Given the description of an element on the screen output the (x, y) to click on. 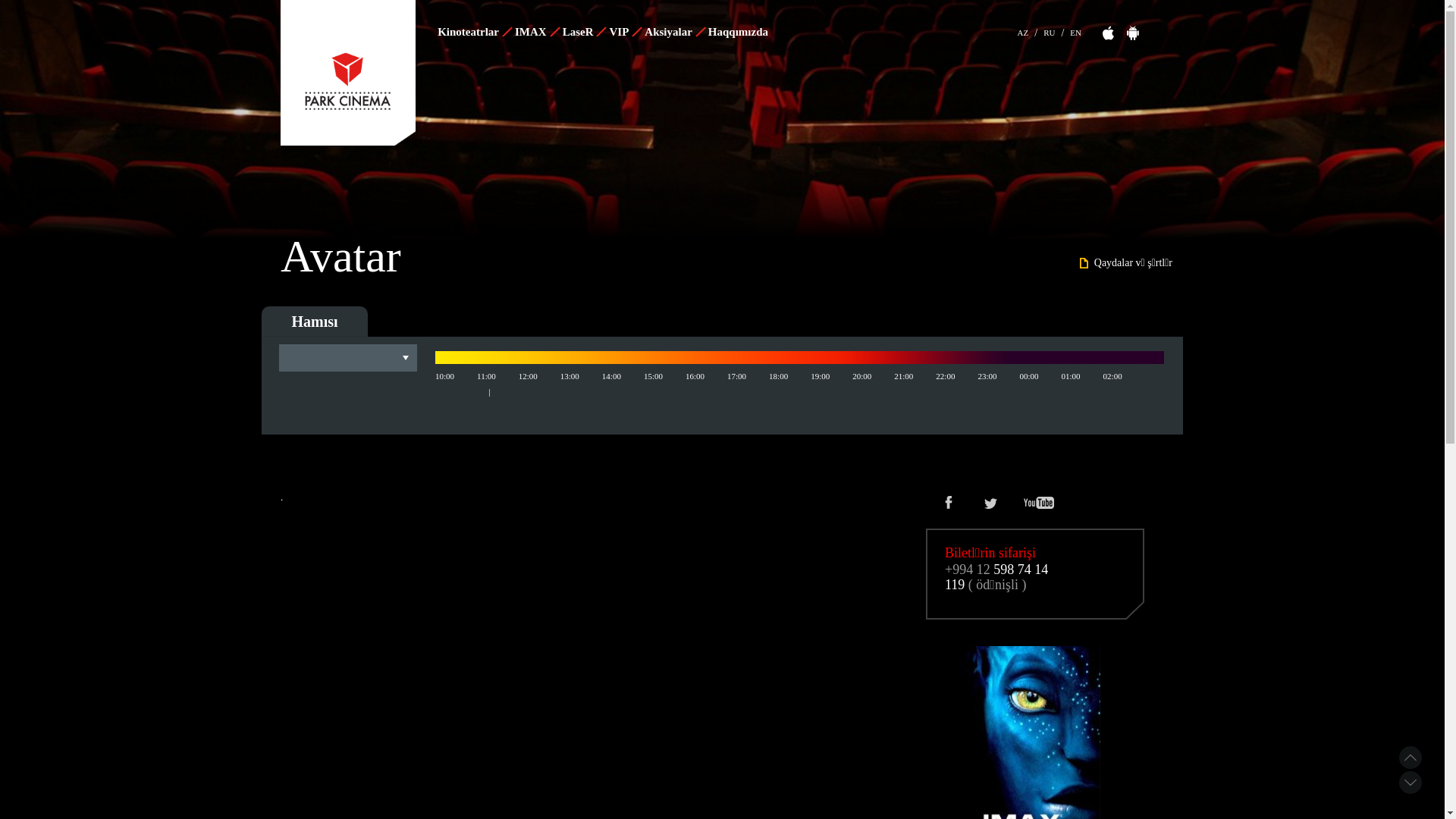
IMAX Element type: text (536, 31)
AZ Element type: text (1023, 30)
Kinoteatrlar Element type: text (473, 31)
VIP Element type: text (624, 31)
Aksiyalar Element type: text (674, 31)
RU Element type: text (1048, 30)
LaseR Element type: text (583, 31)
EN Element type: text (1075, 30)
